Given the description of an element on the screen output the (x, y) to click on. 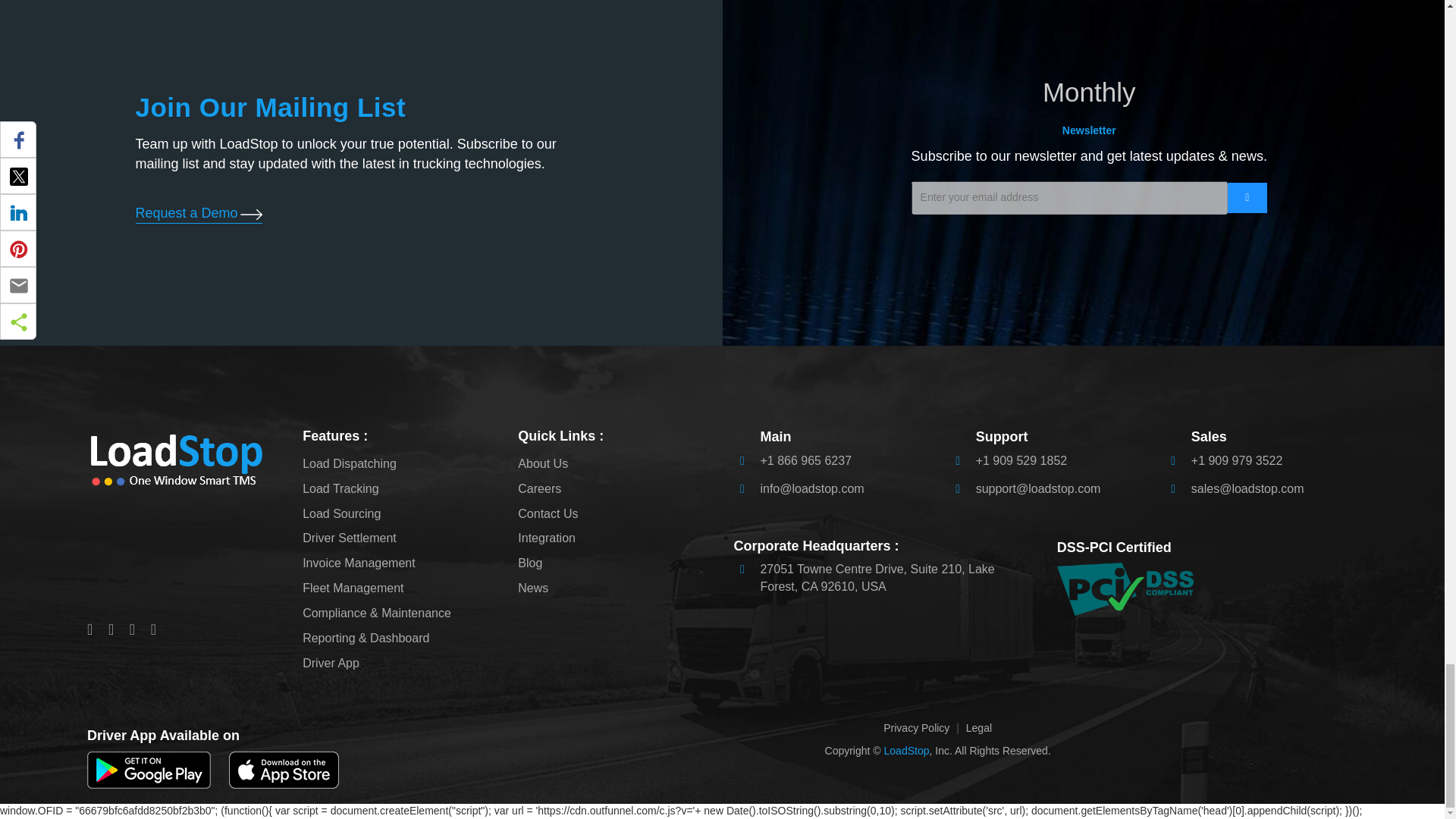
Sales (1236, 460)
Support (1021, 460)
Main (805, 460)
